Given the description of an element on the screen output the (x, y) to click on. 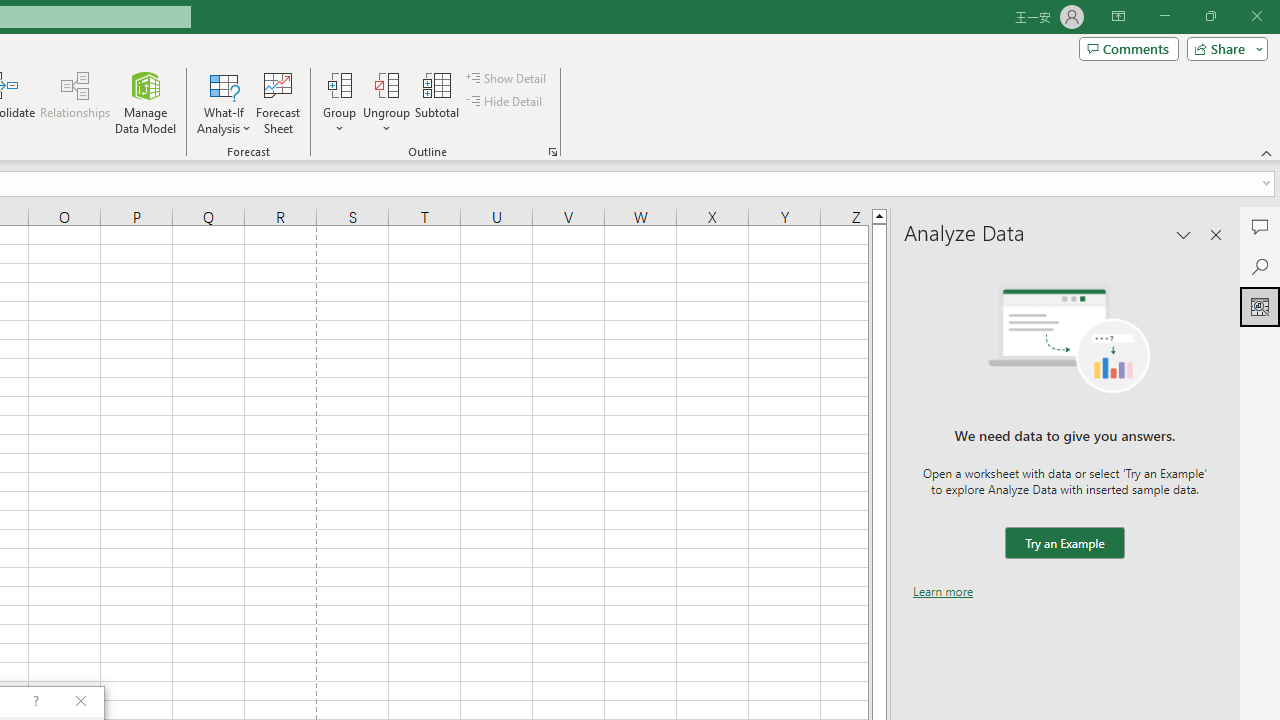
Hide Detail (505, 101)
Group and Outline Settings (552, 151)
Relationships (75, 102)
Analyze Data (1260, 306)
Forecast Sheet (278, 102)
What-If Analysis (223, 102)
